Given the description of an element on the screen output the (x, y) to click on. 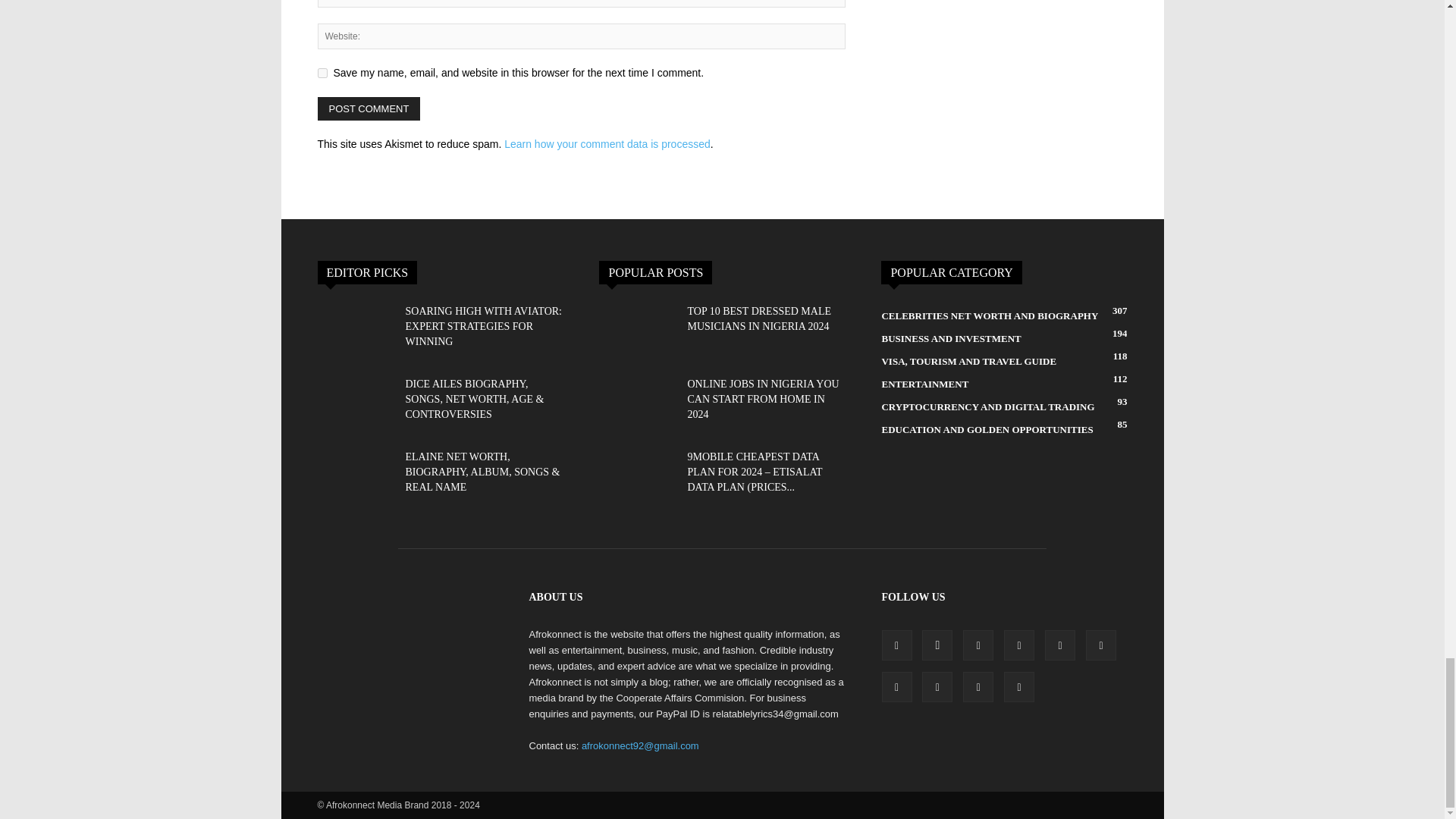
Post Comment (368, 108)
yes (321, 72)
